Given the description of an element on the screen output the (x, y) to click on. 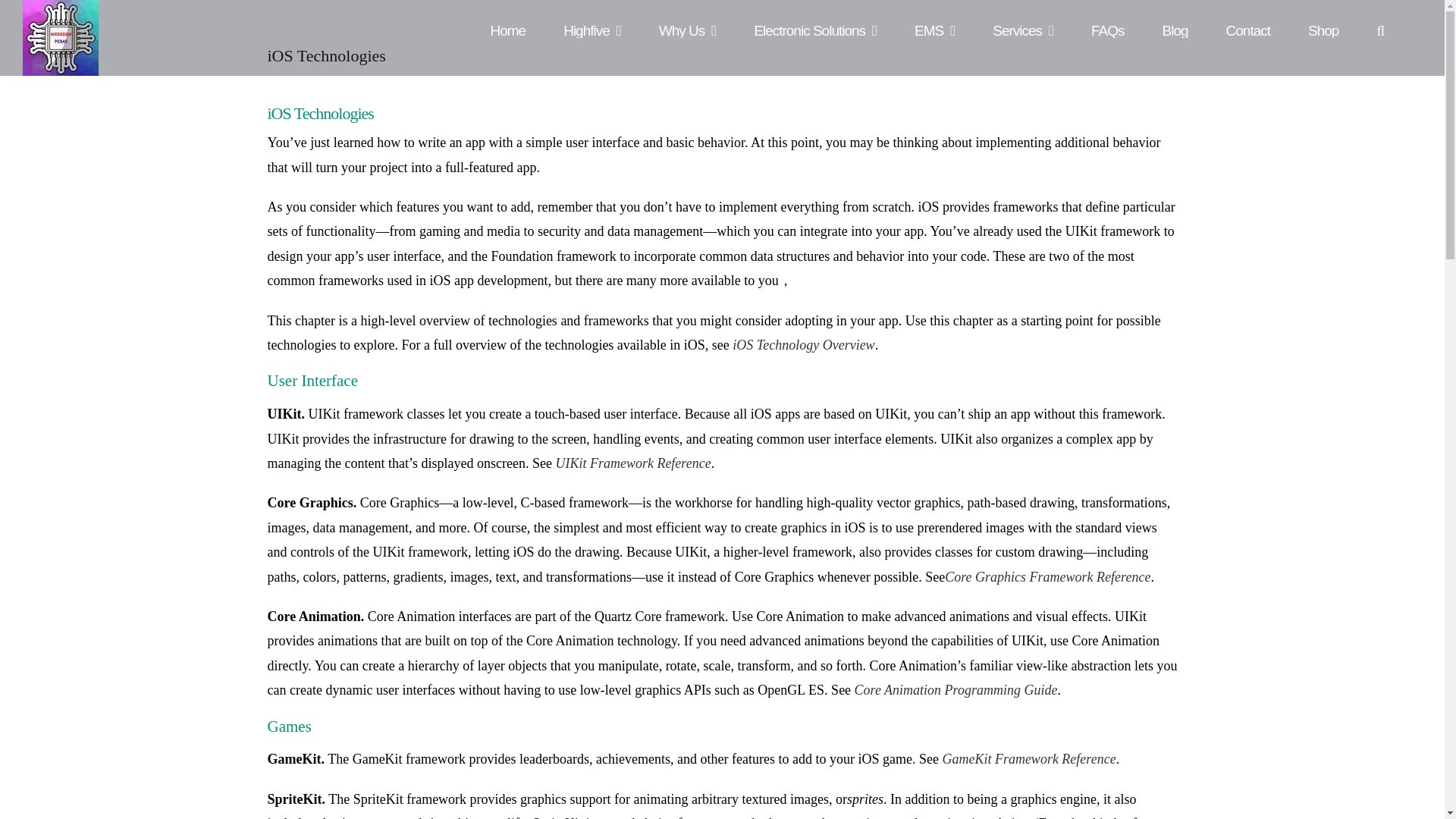
Why Us (687, 18)
Highfive (592, 18)
Home (507, 18)
Electronic Solutions (815, 18)
